Given the description of an element on the screen output the (x, y) to click on. 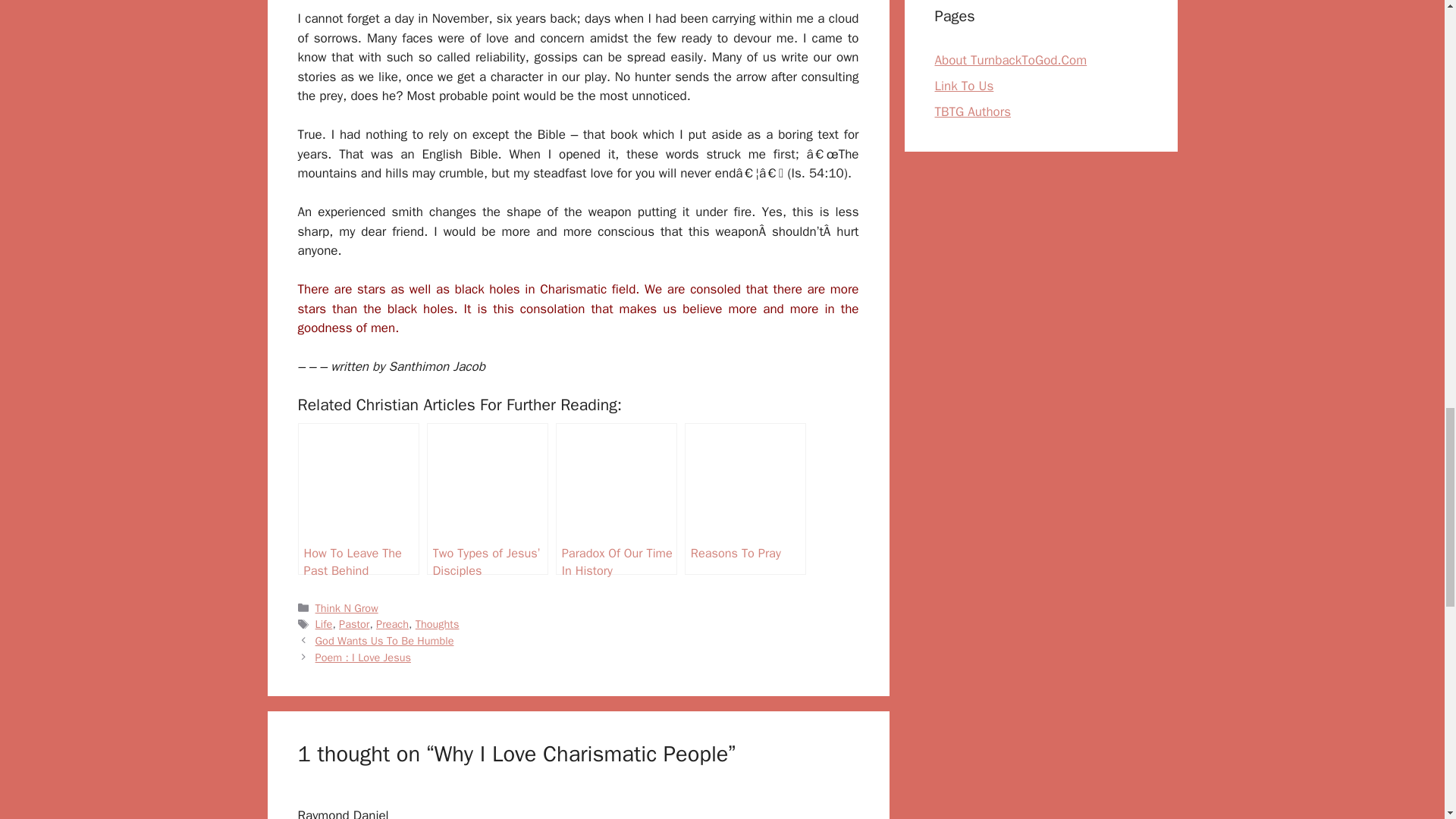
February 1, 2013 at 5:22 pm (367, 605)
Pastor (354, 397)
Preach (392, 397)
Thoughts (437, 397)
God Wants Us To Be Humble (384, 413)
Previous (384, 413)
Think N Grow (346, 380)
Next (362, 429)
Life (324, 397)
Poem : I Love Jesus (362, 429)
